Given the description of an element on the screen output the (x, y) to click on. 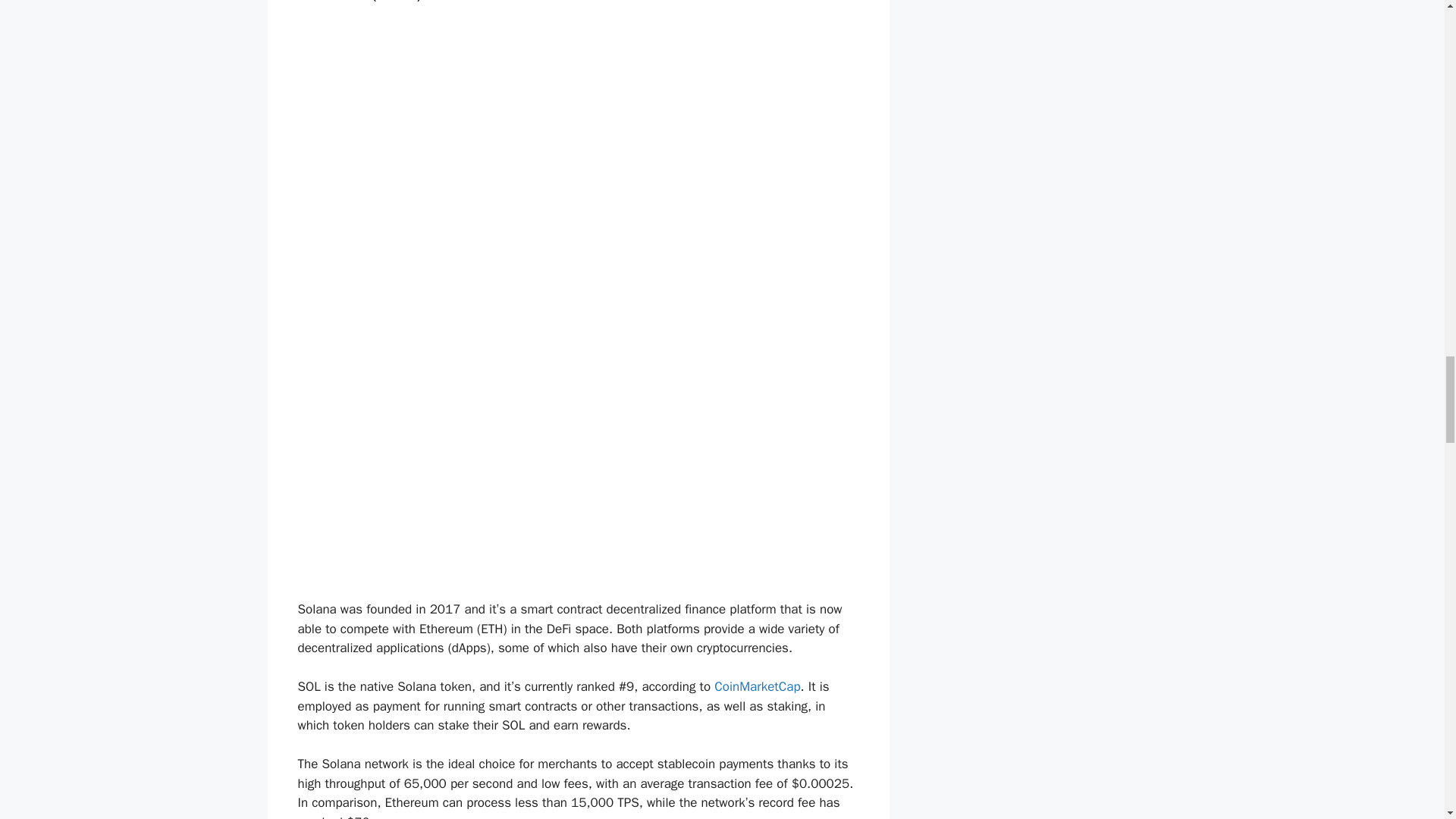
CoinMarketCap (756, 686)
